Given the description of an element on the screen output the (x, y) to click on. 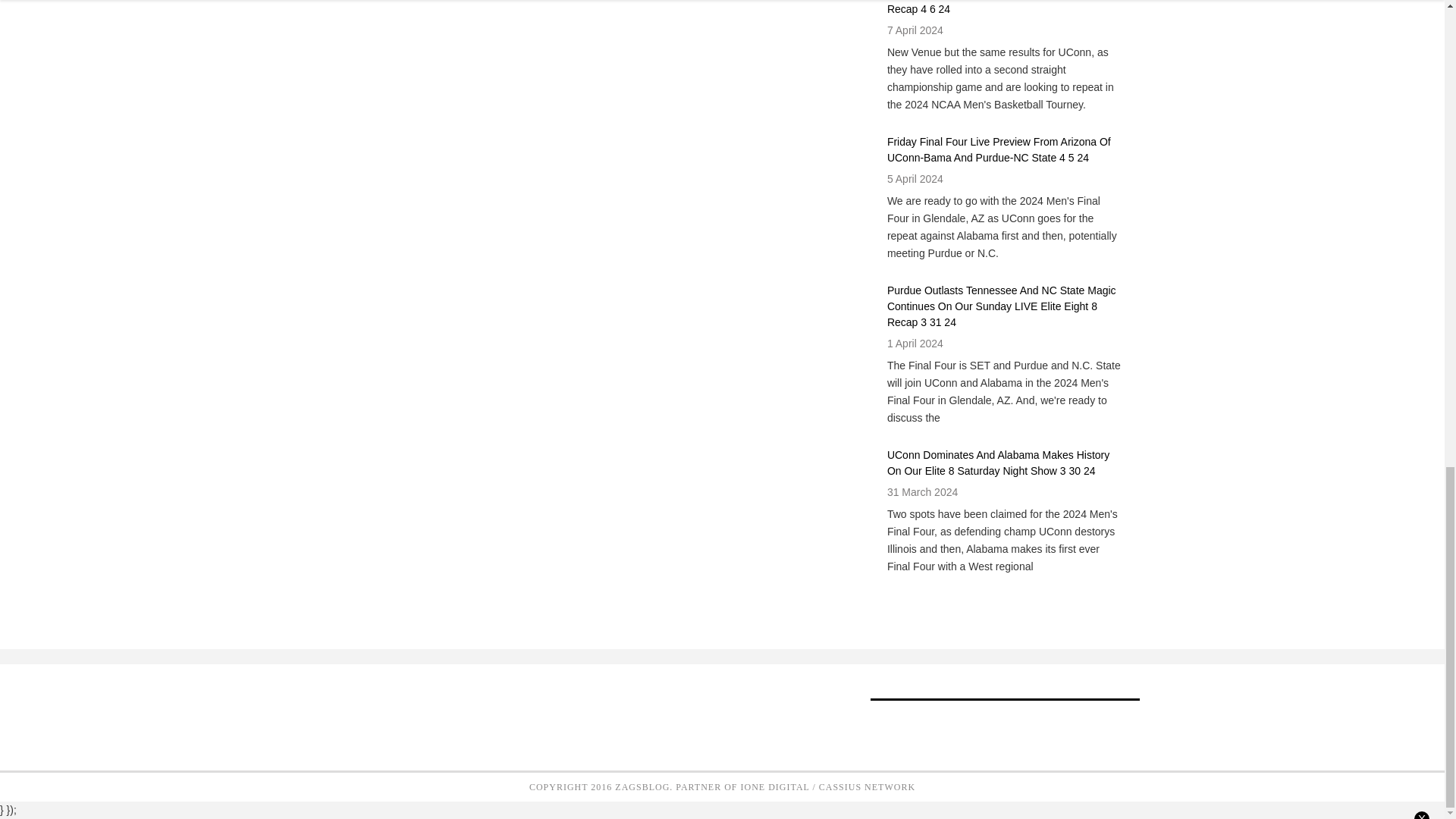
1 April 2024, 12:58 am UTC (914, 343)
5 April 2024, 10:12 pm UTC (914, 178)
31 March 2024, 4:40 am UTC (922, 491)
7 April 2024, 4:00 am UTC (914, 30)
